Given the description of an element on the screen output the (x, y) to click on. 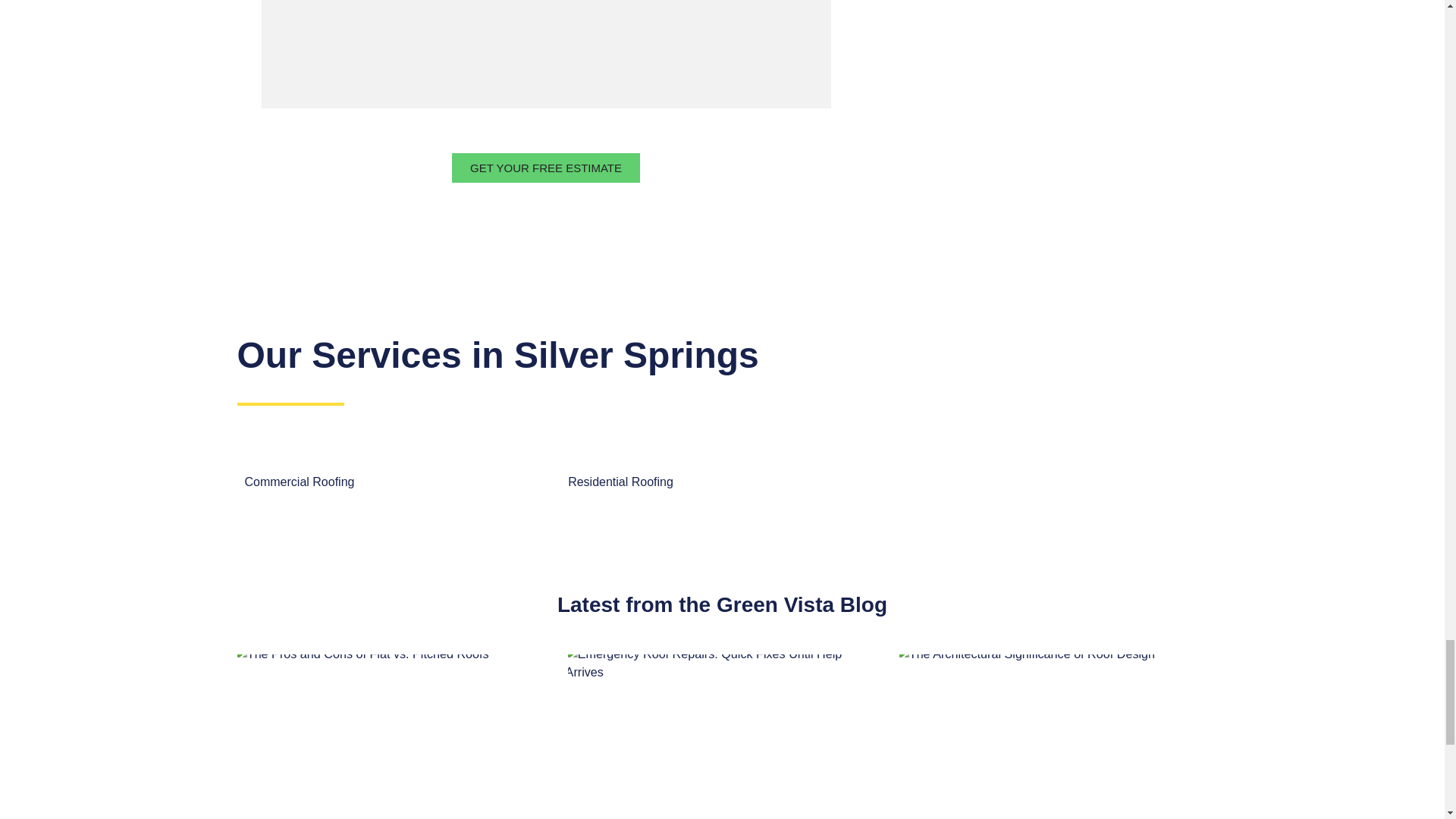
Google map of Silver Springs FL (544, 54)
Storm Damage Roofing 9 (720, 727)
Storm Damage Roofing 8 (388, 727)
Commercial Roofing (298, 481)
Residential Roofing (619, 481)
Storm Damage Roofing 10 (1050, 727)
